Given the description of an element on the screen output the (x, y) to click on. 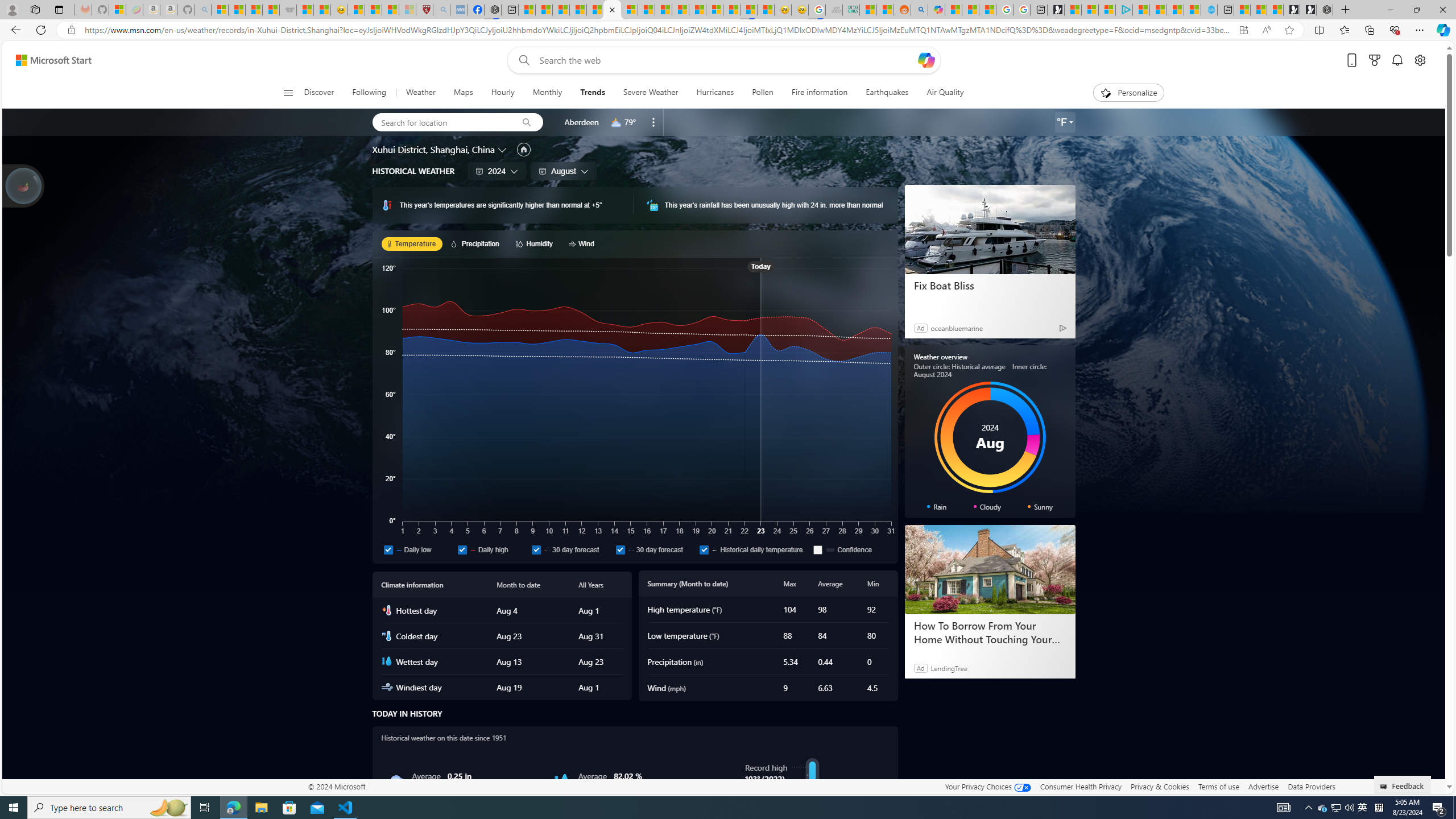
Change location (503, 149)
Privacy & Cookies (1160, 785)
Privacy & Cookies (1160, 786)
Severe Weather (650, 92)
Class: feedback_link_icon-DS-EntryPoint1-1 (1384, 786)
Hurricanes (715, 92)
Pollen (762, 92)
Trends (592, 92)
